Given the description of an element on the screen output the (x, y) to click on. 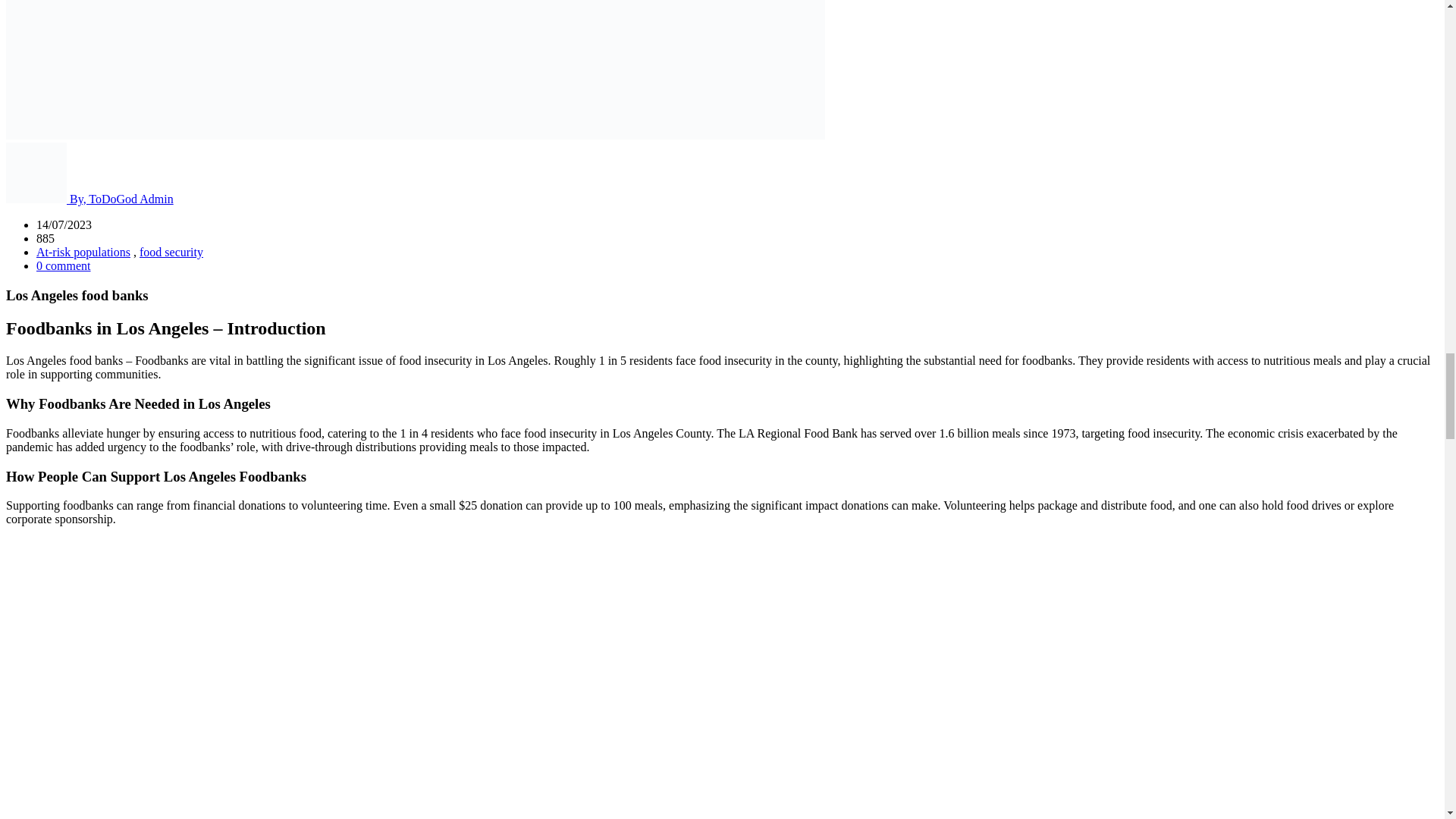
By, ToDoGod Admin (89, 198)
At-risk populations (83, 251)
food security (171, 251)
0 comment (63, 265)
